Given the description of an element on the screen output the (x, y) to click on. 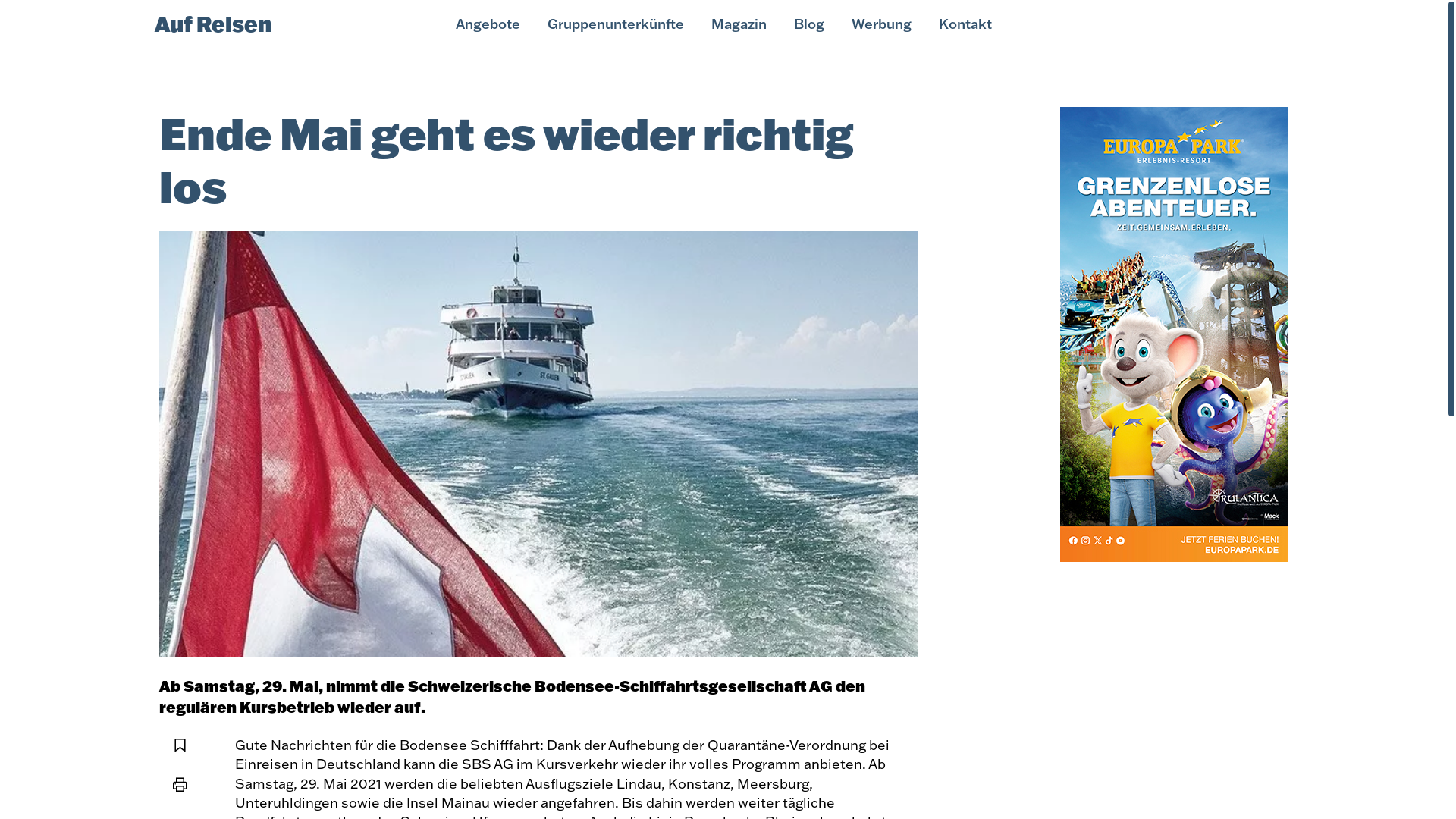
Kontakt Element type: text (964, 23)
Angebote Element type: text (487, 23)
Auf Reisen Element type: text (212, 23)
Artikel ausdrucken Element type: hover (179, 786)
  Element type: text (1173, 333)
Magazin Element type: text (738, 23)
Blog Element type: text (808, 23)
Werbung Element type: text (880, 23)
